Given the description of an element on the screen output the (x, y) to click on. 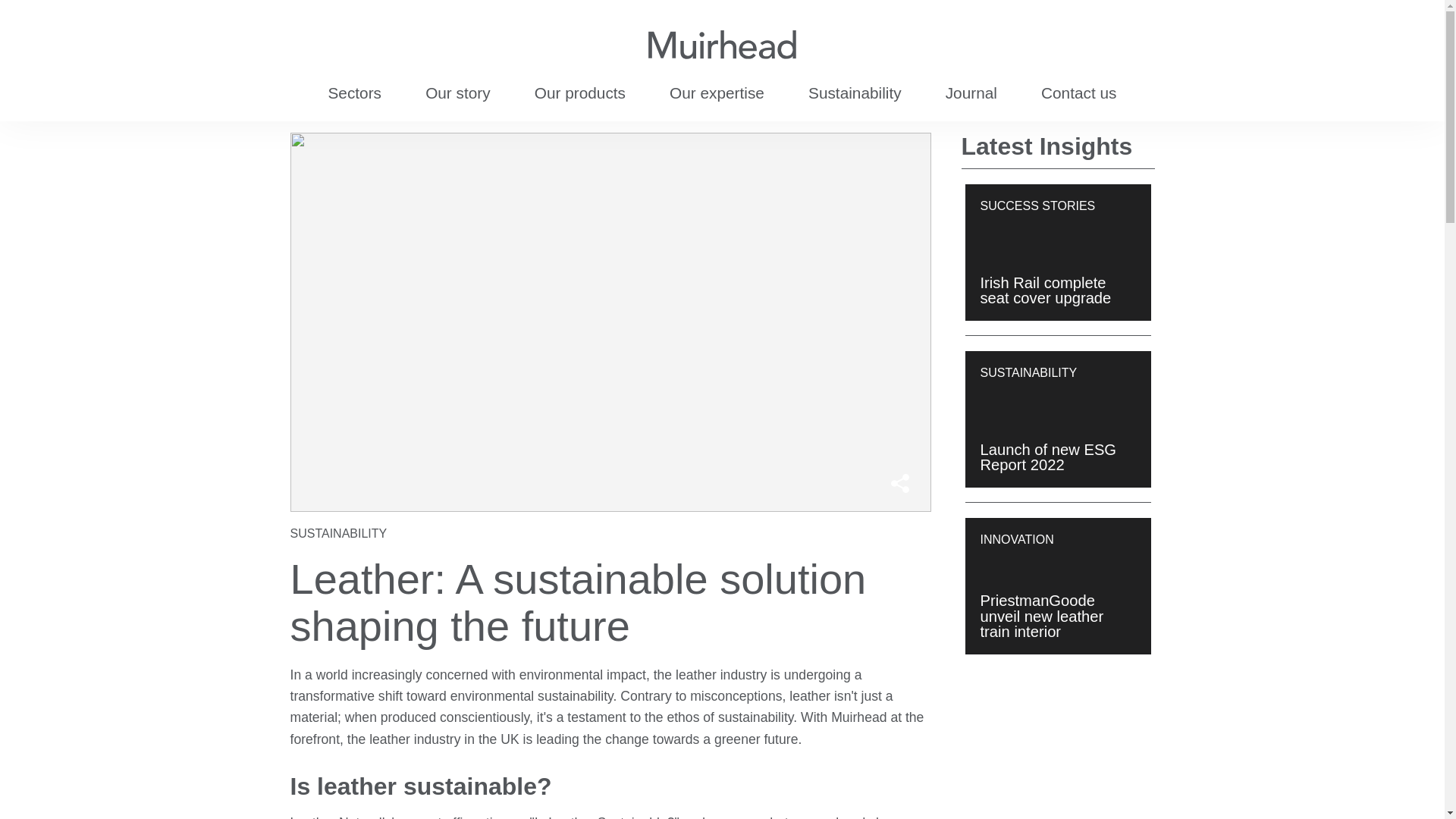
Contact us (1078, 92)
Journal (970, 92)
Is Leather Sustainable? (600, 816)
Is Leather Sustainable (600, 816)
